Given the description of an element on the screen output the (x, y) to click on. 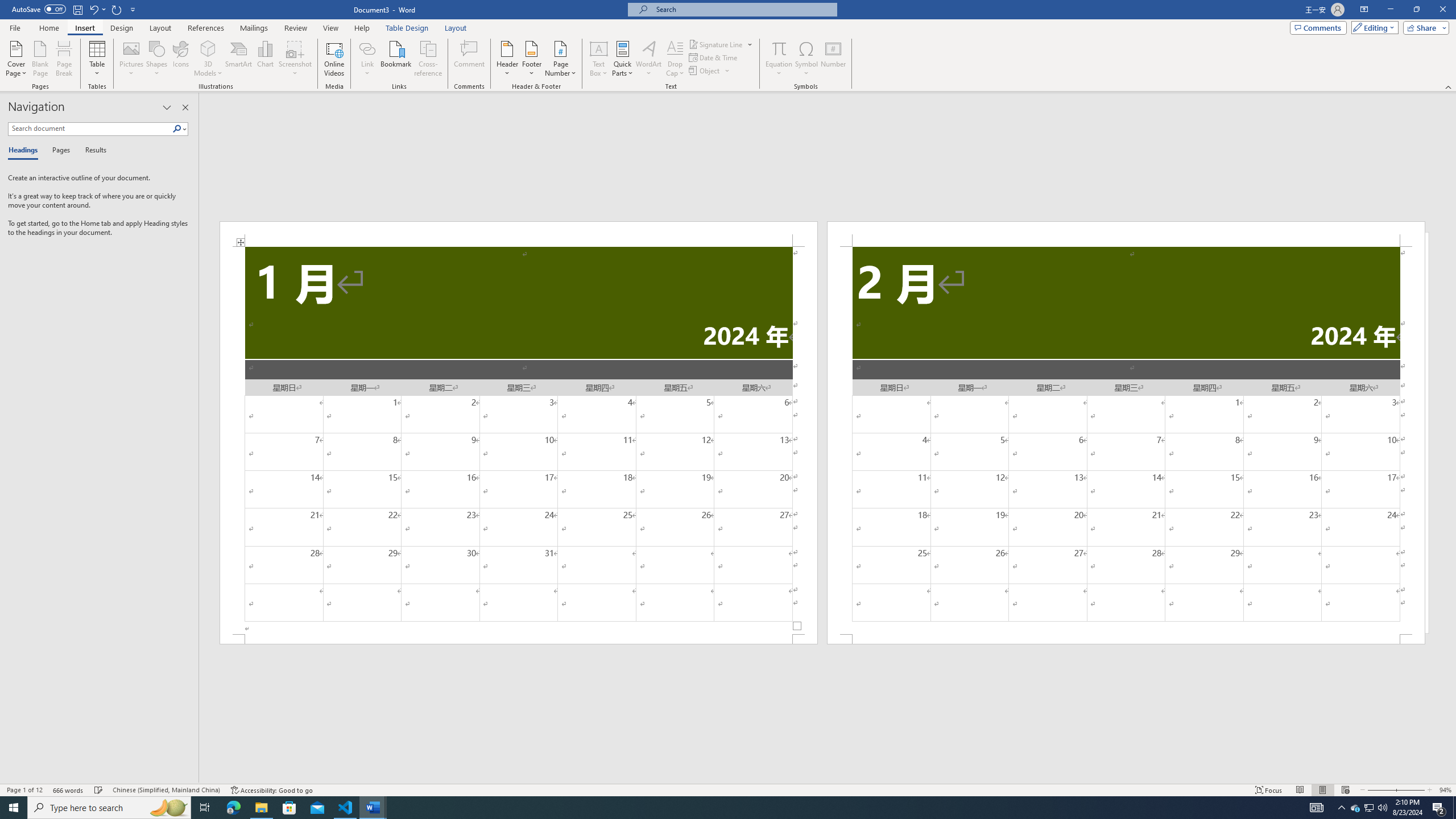
Chart... (265, 58)
Icons (180, 58)
Page 2 content (1126, 439)
